Given the description of an element on the screen output the (x, y) to click on. 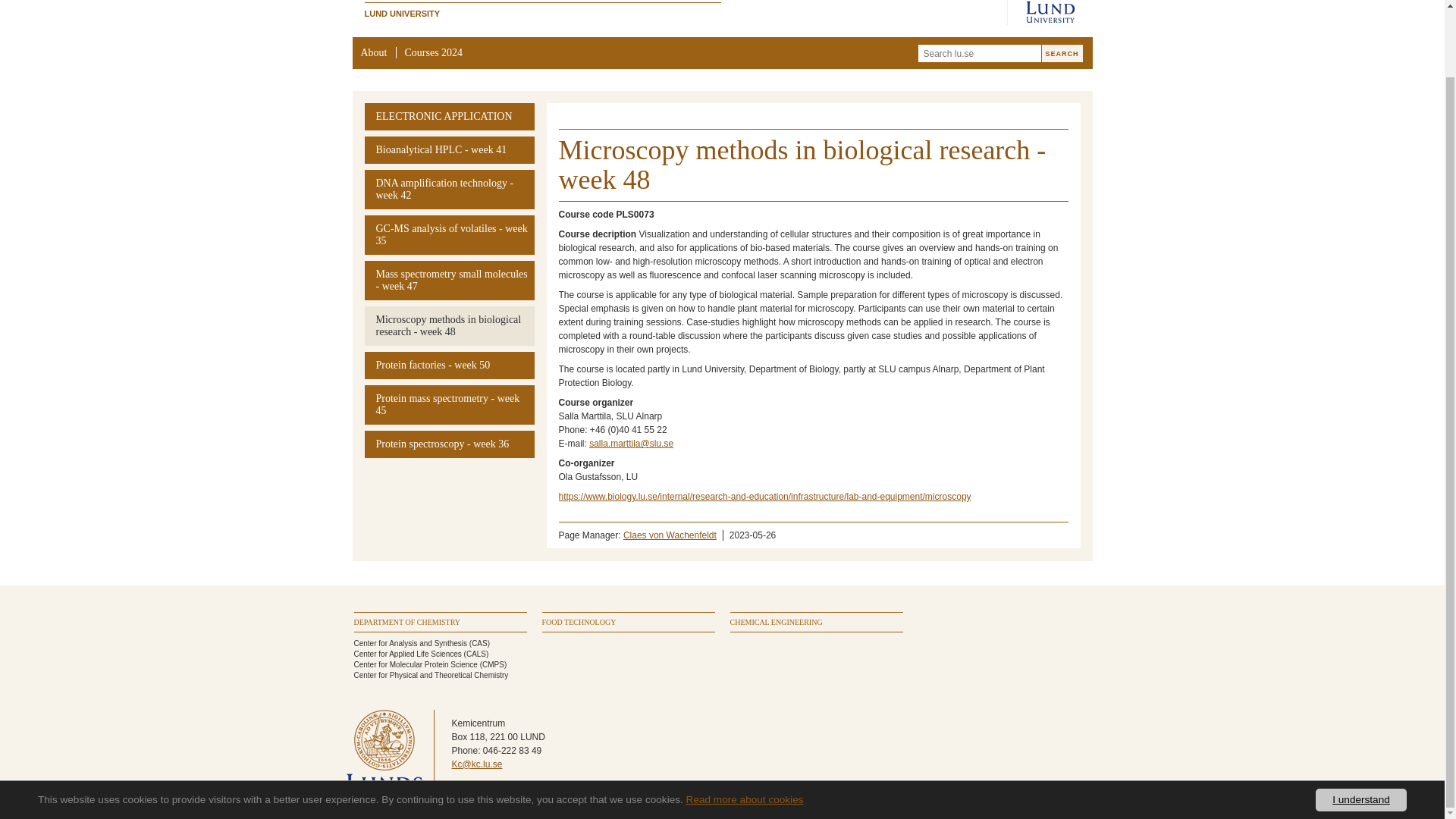
Search (1061, 53)
